Given the description of an element on the screen output the (x, y) to click on. 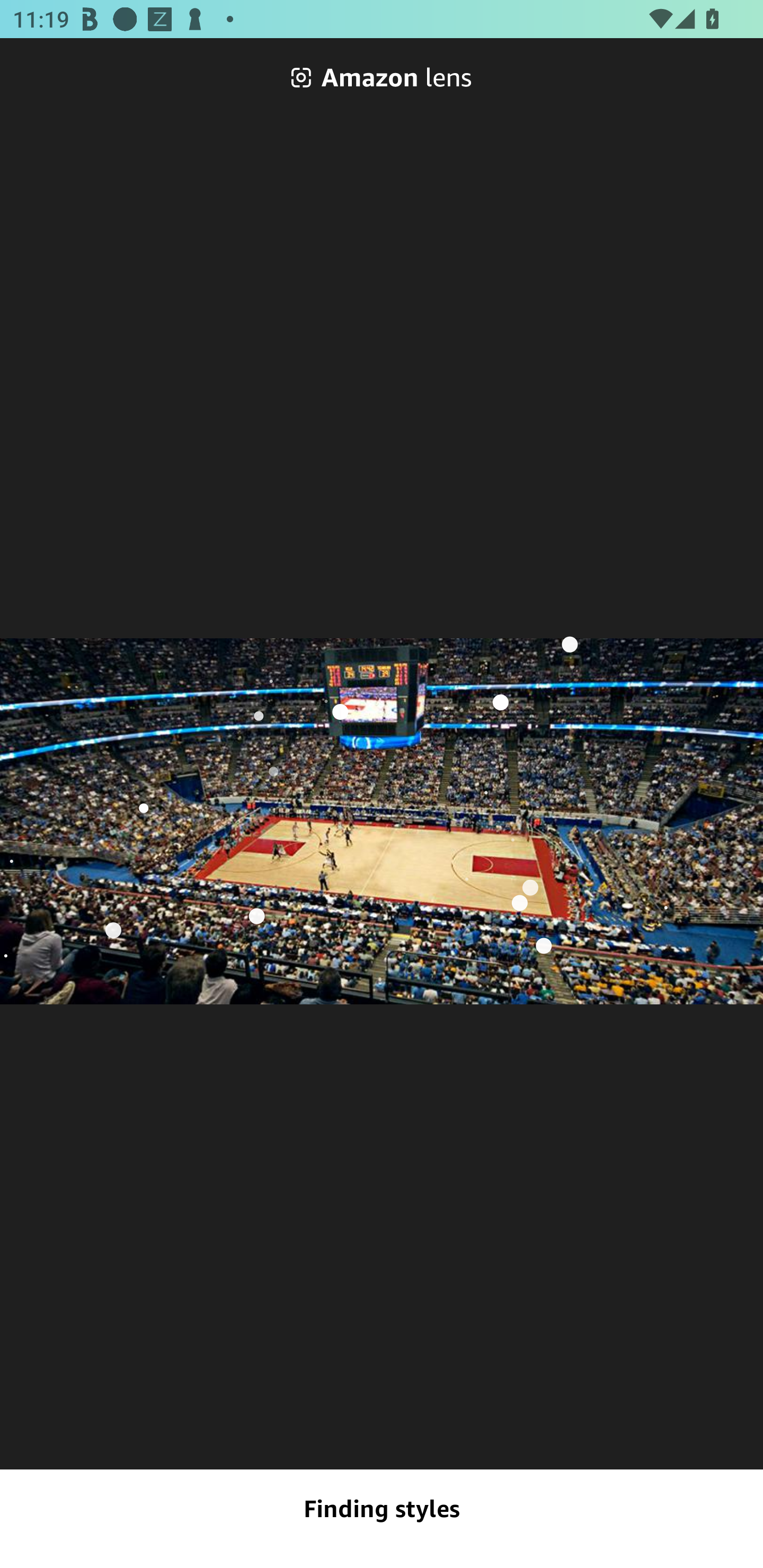
Finding styles (381, 1509)
